Given the description of an element on the screen output the (x, y) to click on. 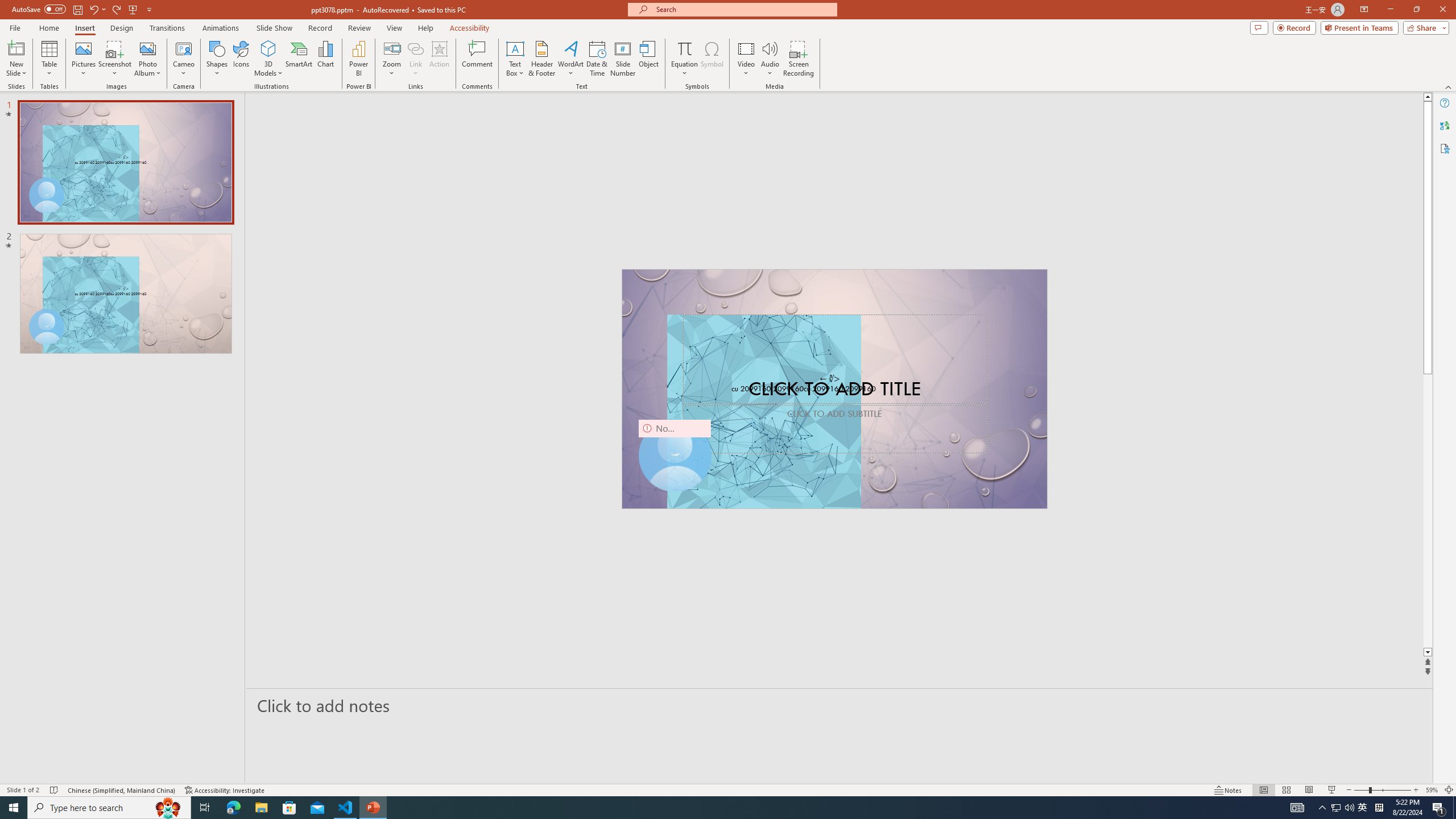
New Photo Album... (147, 48)
Table (49, 58)
